Given the description of an element on the screen output the (x, y) to click on. 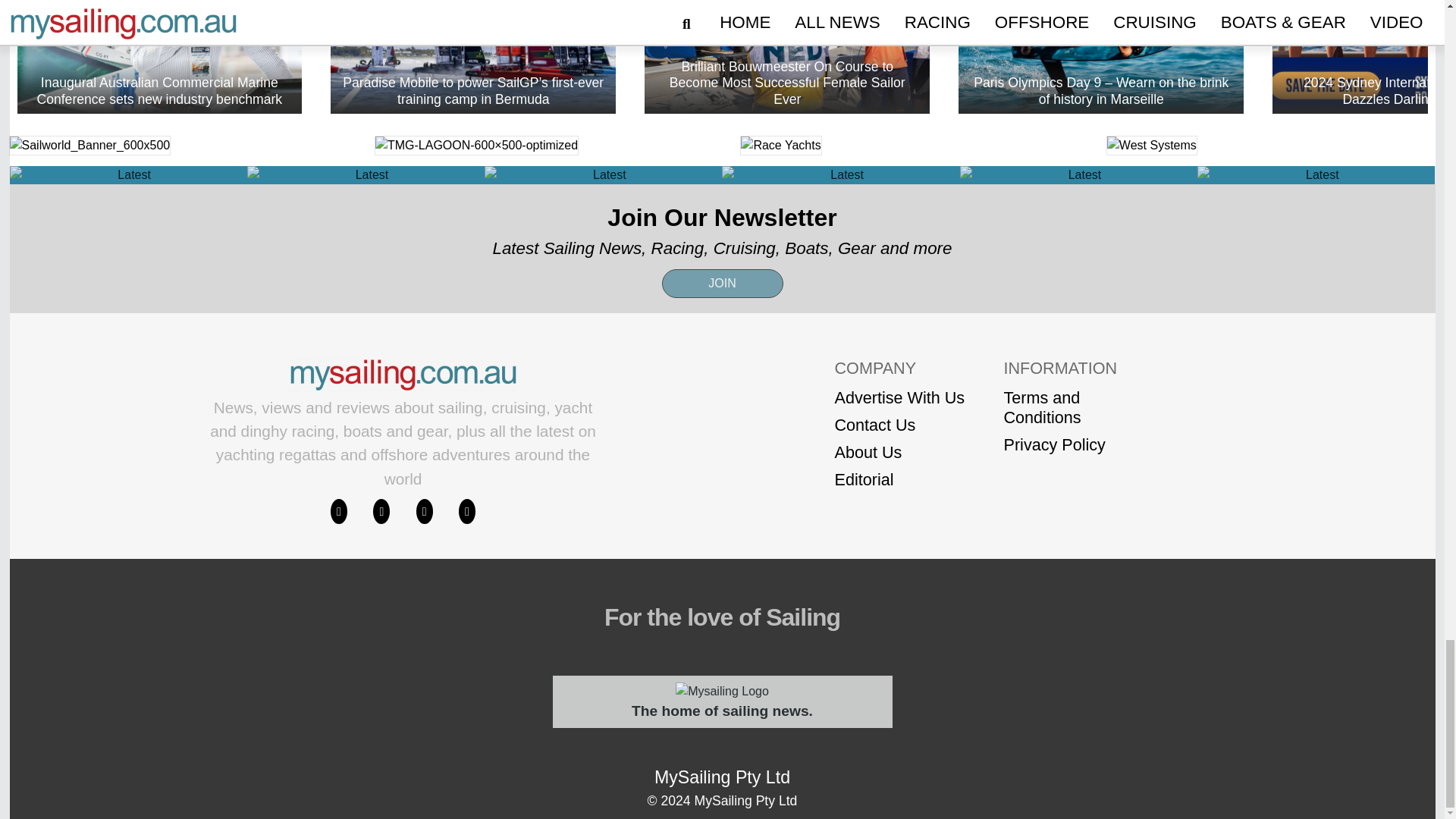
Contact Us (899, 424)
Editorial (899, 479)
Advertise With Us (899, 397)
About Us (899, 452)
